Given the description of an element on the screen output the (x, y) to click on. 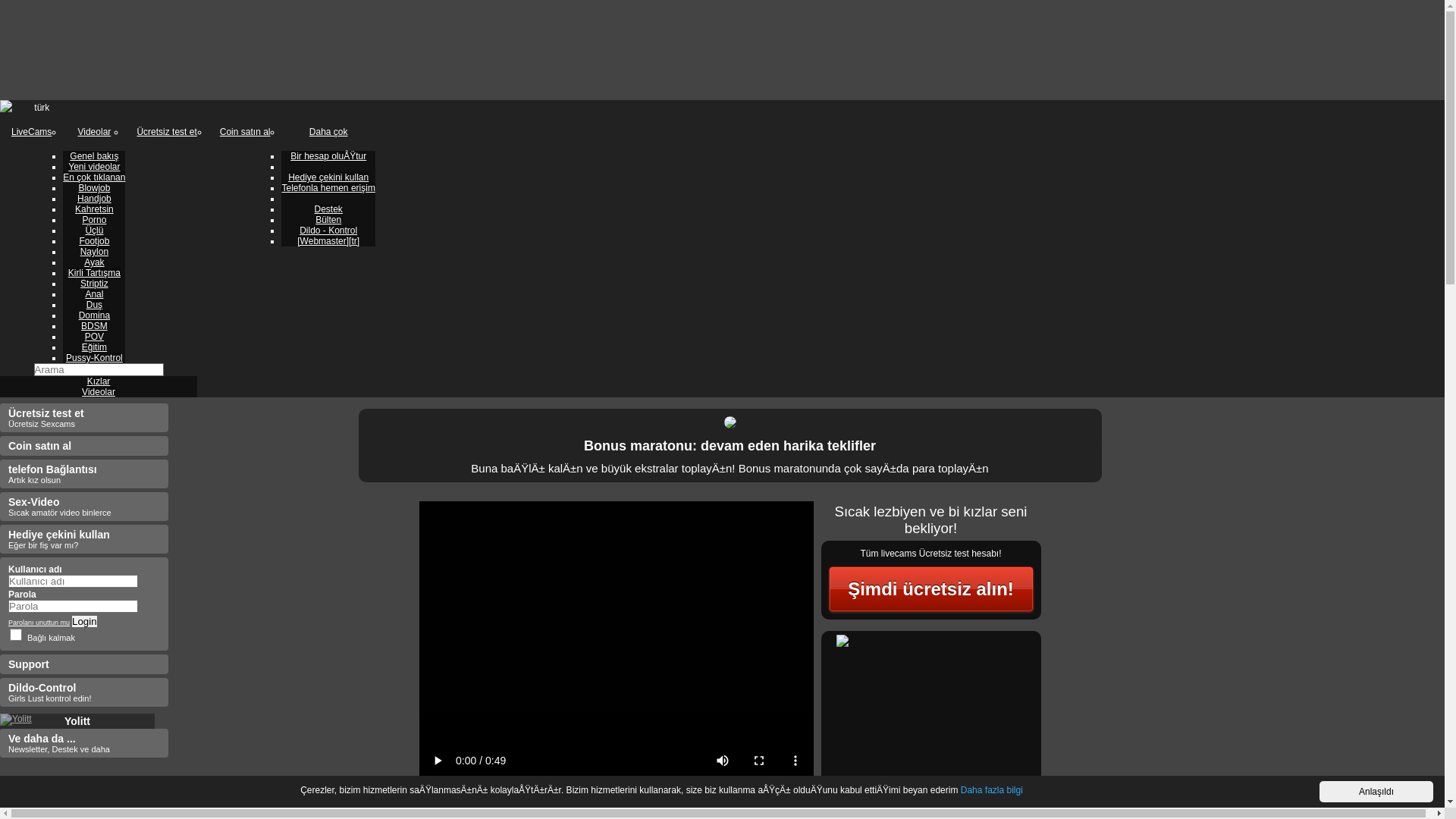
Dildo-Control
Girls Lust kontrol edin! Element type: text (84, 691)
[Webmaster][tr] Element type: text (328, 240)
Destek Element type: text (327, 208)
Domina Element type: text (93, 315)
Yeni videolar Element type: text (93, 166)
Naylon Element type: text (94, 251)
Porno Element type: text (93, 219)
Videolar Element type: text (93, 132)
Dildo - Kontrol Element type: text (328, 230)
Ayak Element type: text (93, 262)
Daha fazla bilgi Element type: text (991, 789)
Login Element type: text (84, 621)
Ve daha da ...
Newsletter, Destek ve daha Element type: text (84, 742)
Blowjob Element type: text (93, 187)
Handjob Element type: text (94, 198)
Videolar Element type: text (98, 391)
Footjob Element type: text (93, 240)
Pussy-Kontrol Element type: text (93, 357)
POV Element type: text (93, 336)
BDSM Element type: text (94, 325)
Striptiz Element type: text (94, 283)
Kahretsin Element type: text (94, 208)
LiveCams Element type: text (31, 132)
Support Element type: text (84, 664)
Anal Element type: text (93, 293)
